Given the description of an element on the screen output the (x, y) to click on. 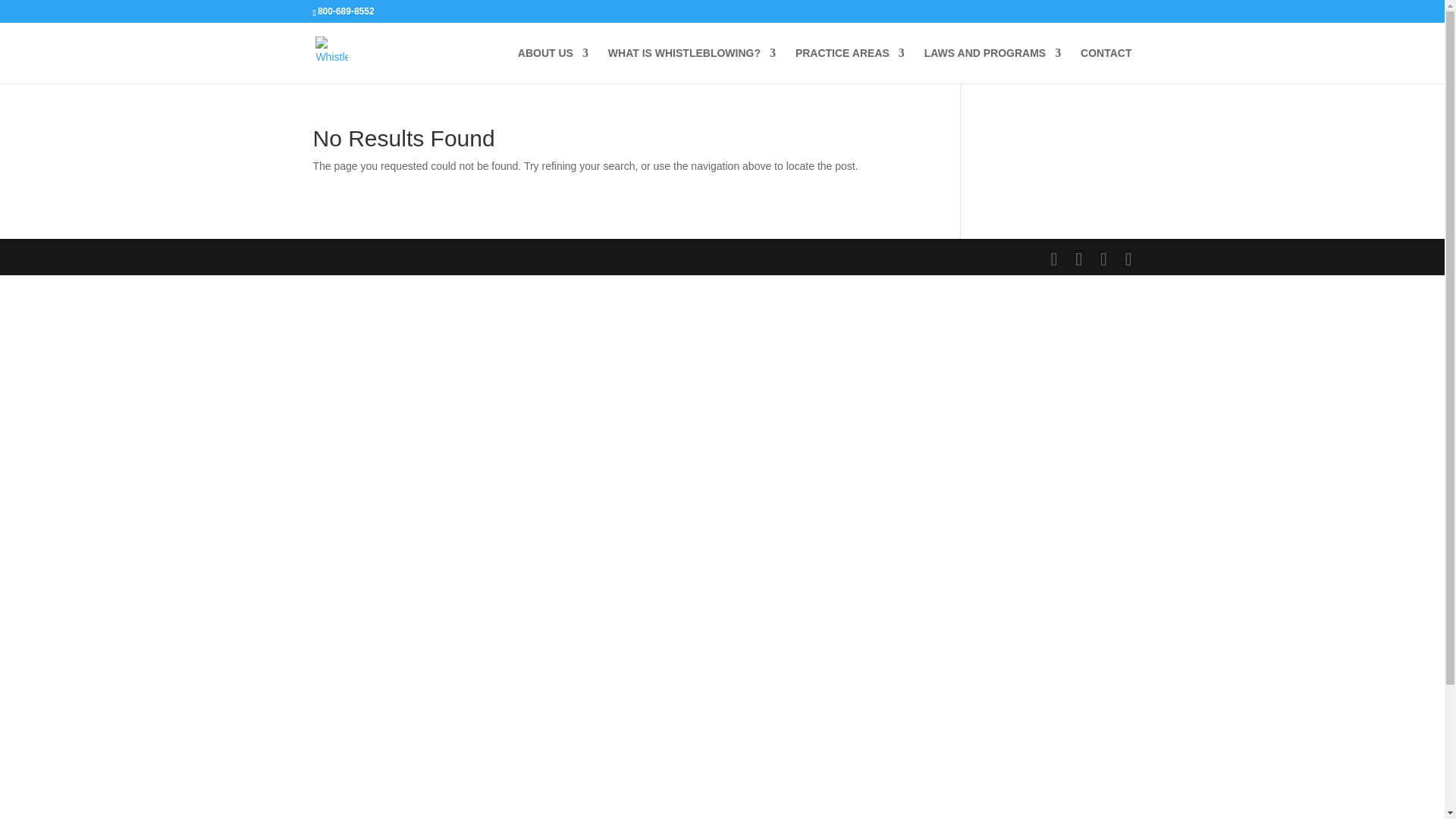
PRACTICE AREAS (849, 65)
ABOUT US (553, 65)
LAWS AND PROGRAMS (992, 65)
WHAT IS WHISTLEBLOWING? (692, 65)
